Given the description of an element on the screen output the (x, y) to click on. 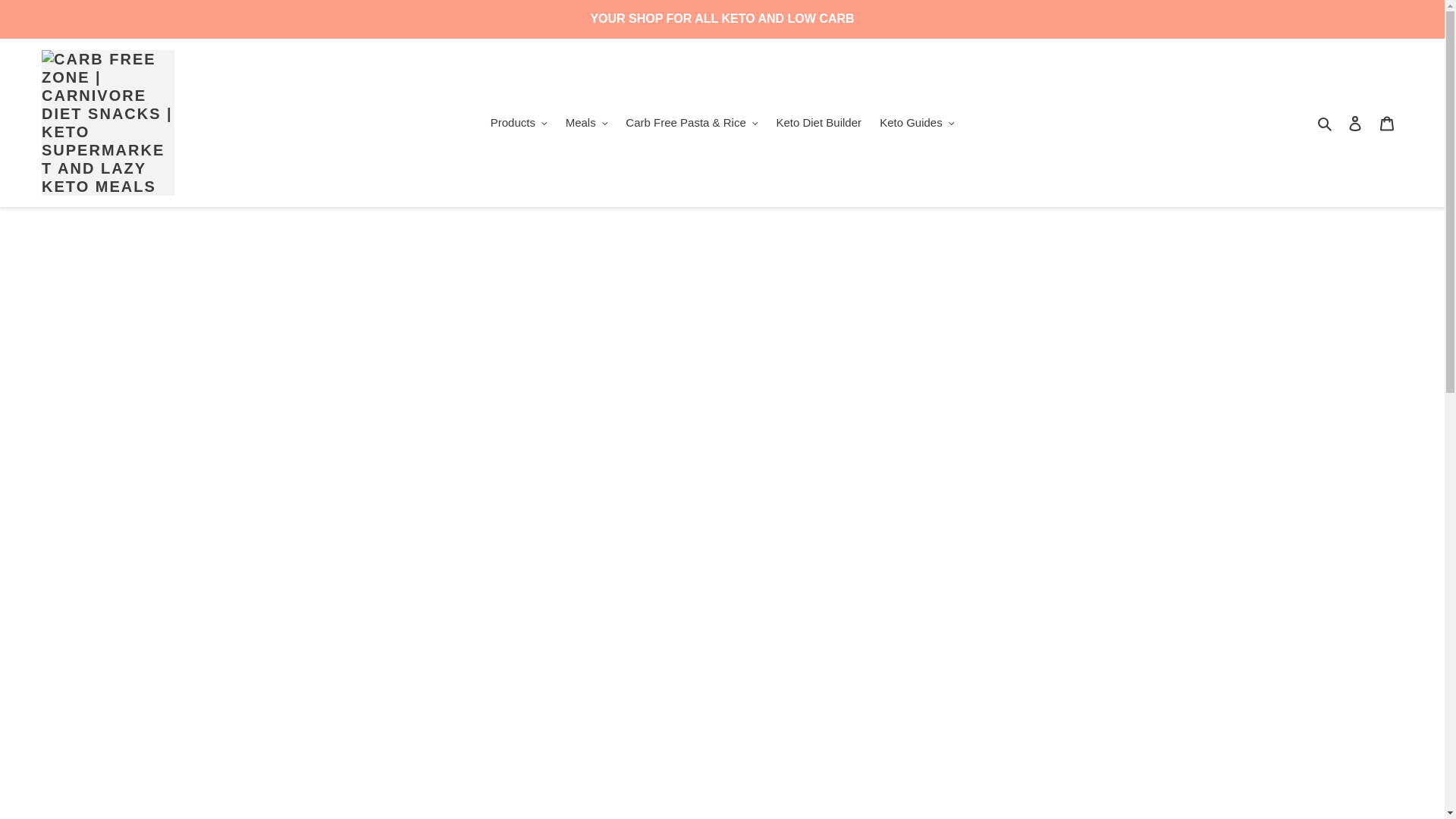
Keto Guides (916, 123)
Meals (586, 123)
Keto Diet Builder (818, 123)
Products (518, 123)
